Given the description of an element on the screen output the (x, y) to click on. 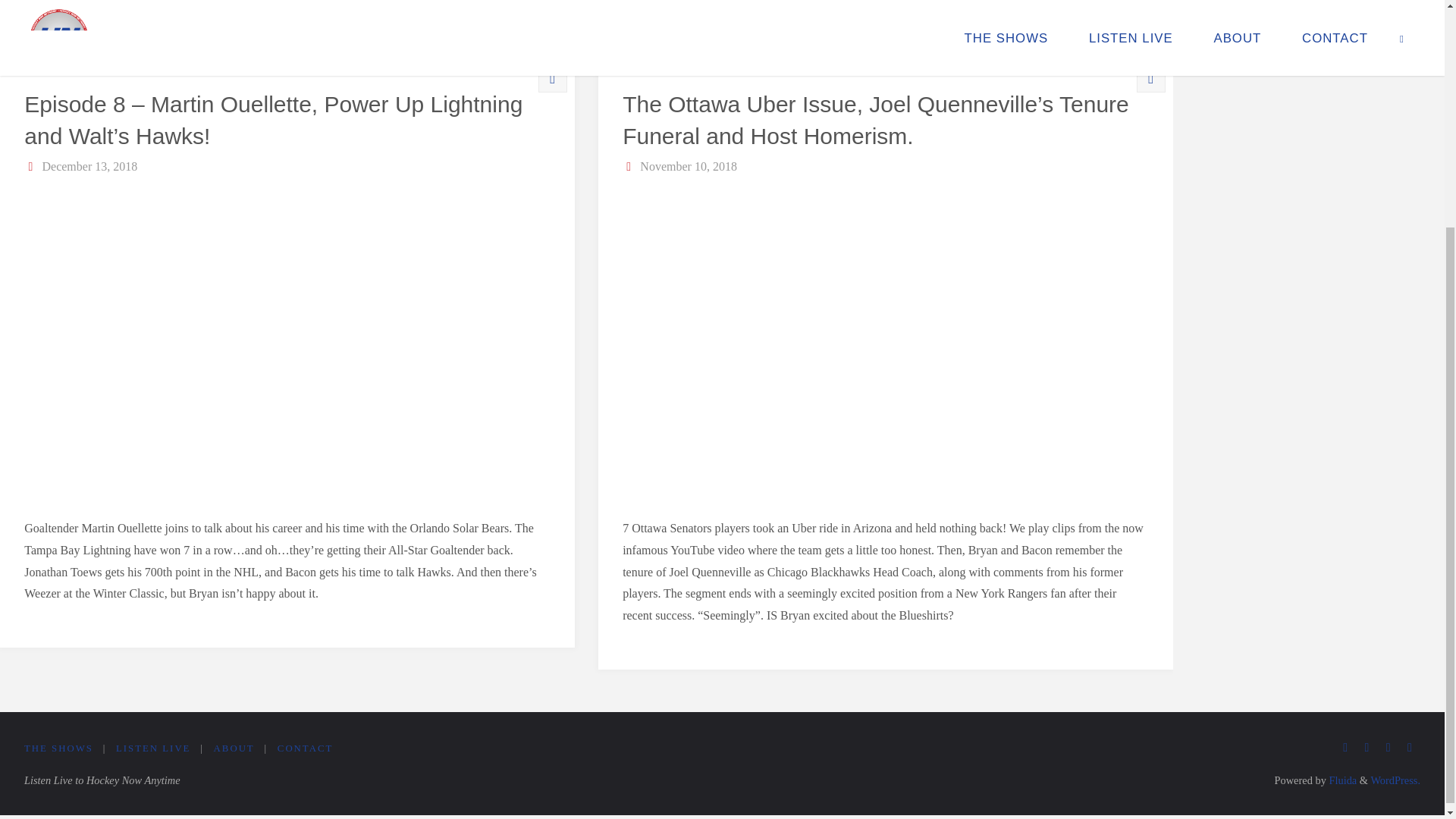
Date (630, 165)
Date (31, 165)
Audio (1149, 78)
Audio (551, 78)
My Tweets (1254, 11)
Fluida (1341, 779)
Semantic Personal Publishing Platform (1395, 779)
ABOUT (234, 747)
THE SHOWS (58, 747)
WordPress. (1395, 779)
